Given the description of an element on the screen output the (x, y) to click on. 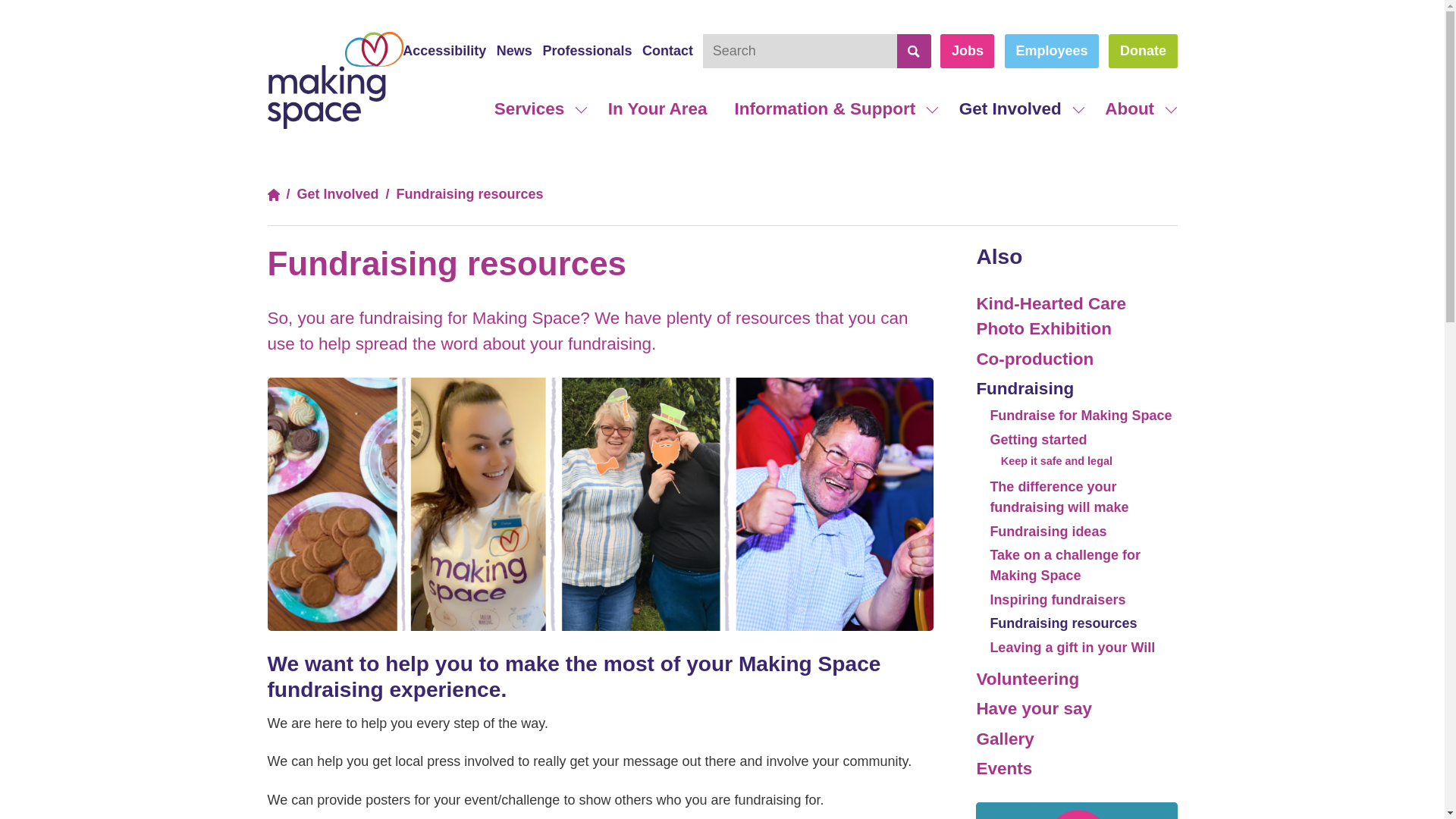
About (1136, 108)
Contact (667, 50)
Services (537, 108)
Accessibility (444, 50)
In Your Area (657, 108)
Jobs (967, 50)
Professionals (586, 50)
Get Involved (1017, 108)
News (514, 50)
Employees (1051, 50)
Donate (1142, 50)
